Given the description of an element on the screen output the (x, y) to click on. 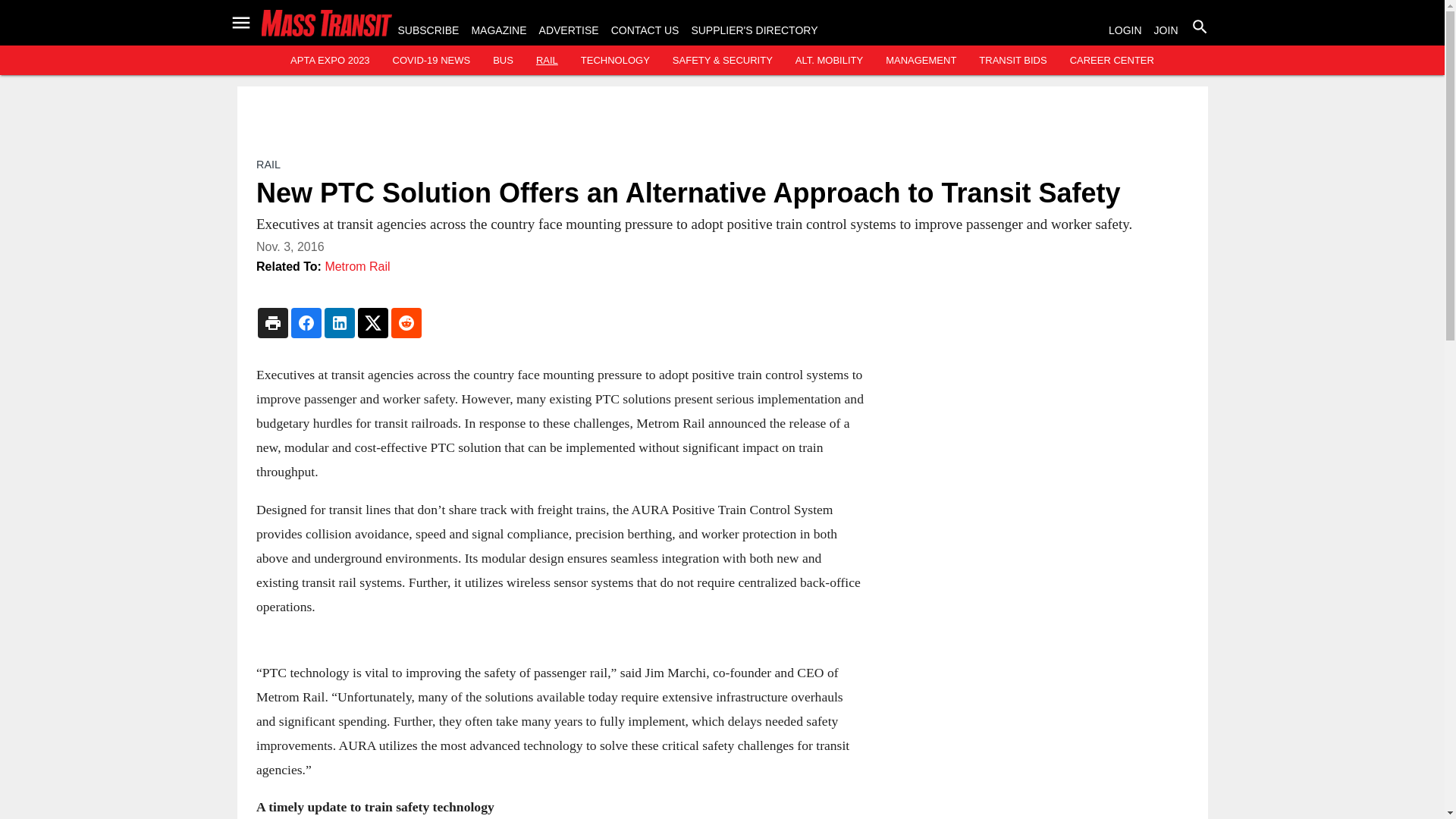
COVID-19 NEWS (431, 60)
MANAGEMENT (920, 60)
CONTACT US (645, 30)
SUPPLIER'S DIRECTORY (753, 30)
TECHNOLOGY (614, 60)
MAGAZINE (497, 30)
ALT. MOBILITY (828, 60)
TRANSIT BIDS (1012, 60)
ADVERTISE (568, 30)
LOGIN (1124, 30)
